Given the description of an element on the screen output the (x, y) to click on. 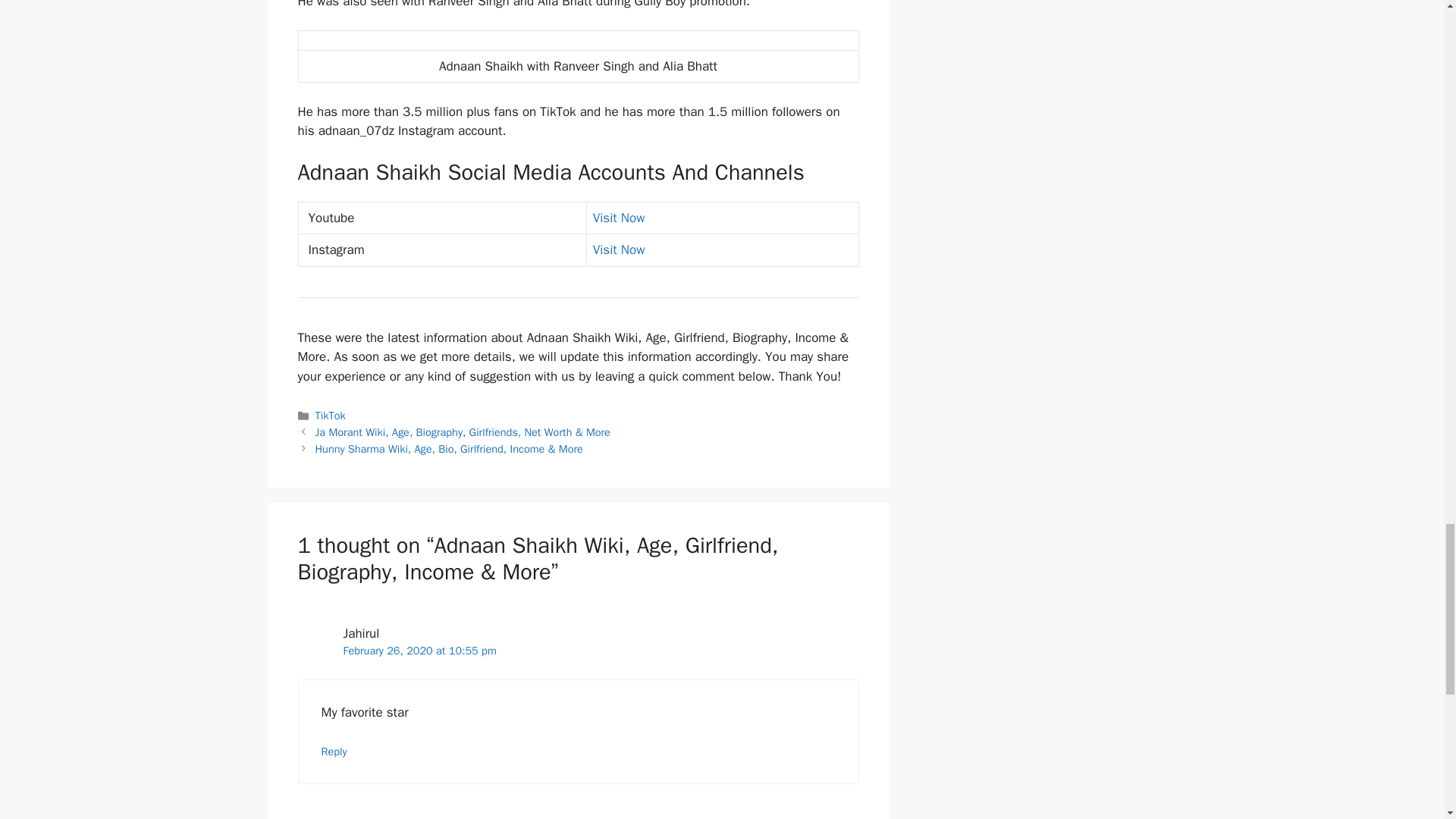
February 26, 2020 at 10:55 pm (419, 650)
Reply (334, 751)
Visit Now (618, 217)
Visit Now (618, 249)
TikTok (330, 415)
